Given the description of an element on the screen output the (x, y) to click on. 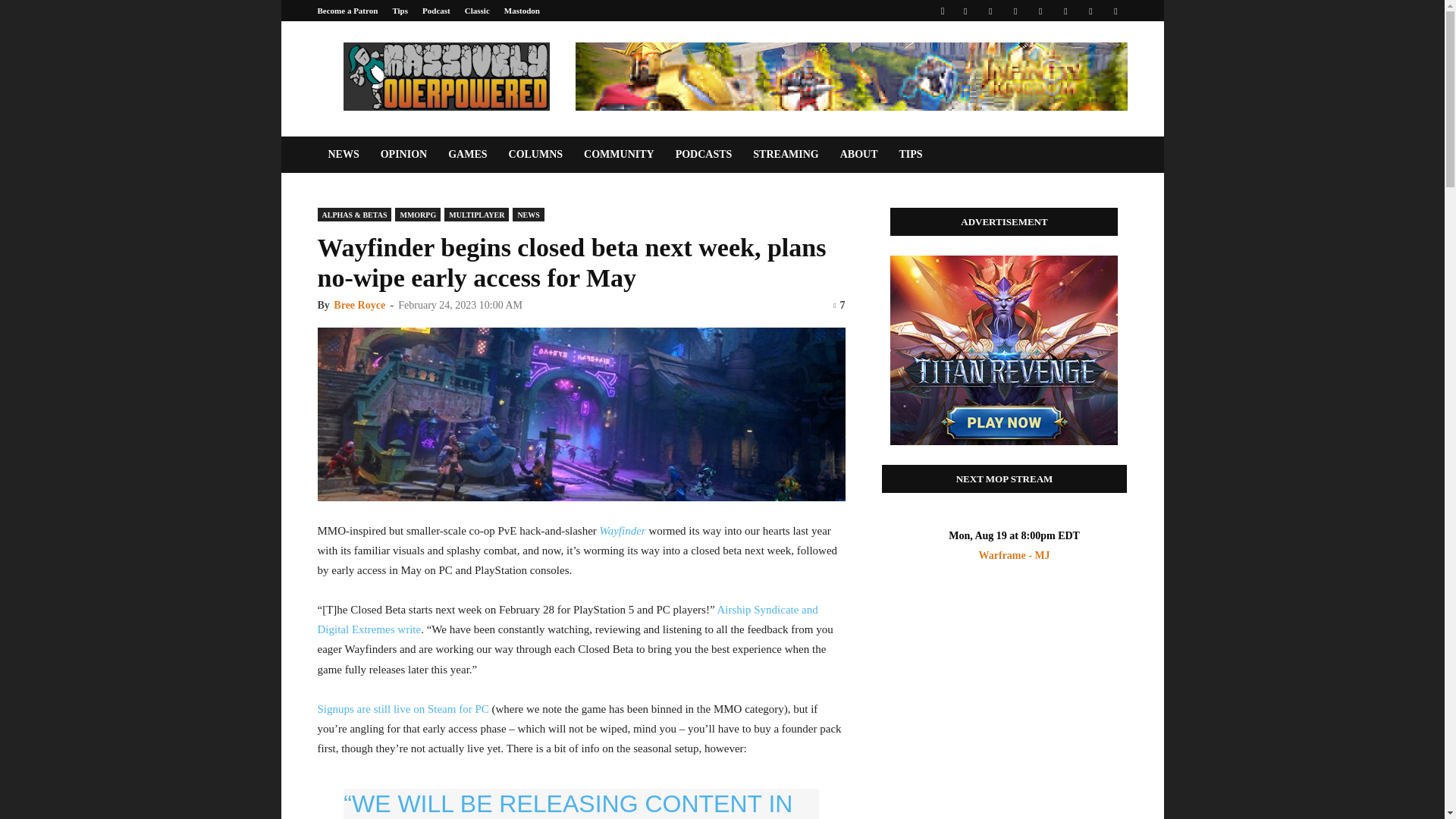
Facebook (964, 10)
Youtube (1114, 10)
RSS (1040, 10)
Patreon (989, 10)
Twitch (1065, 10)
Paypal (1015, 10)
MassivelyOP.com (445, 76)
Twitter (1090, 10)
